Given the description of an element on the screen output the (x, y) to click on. 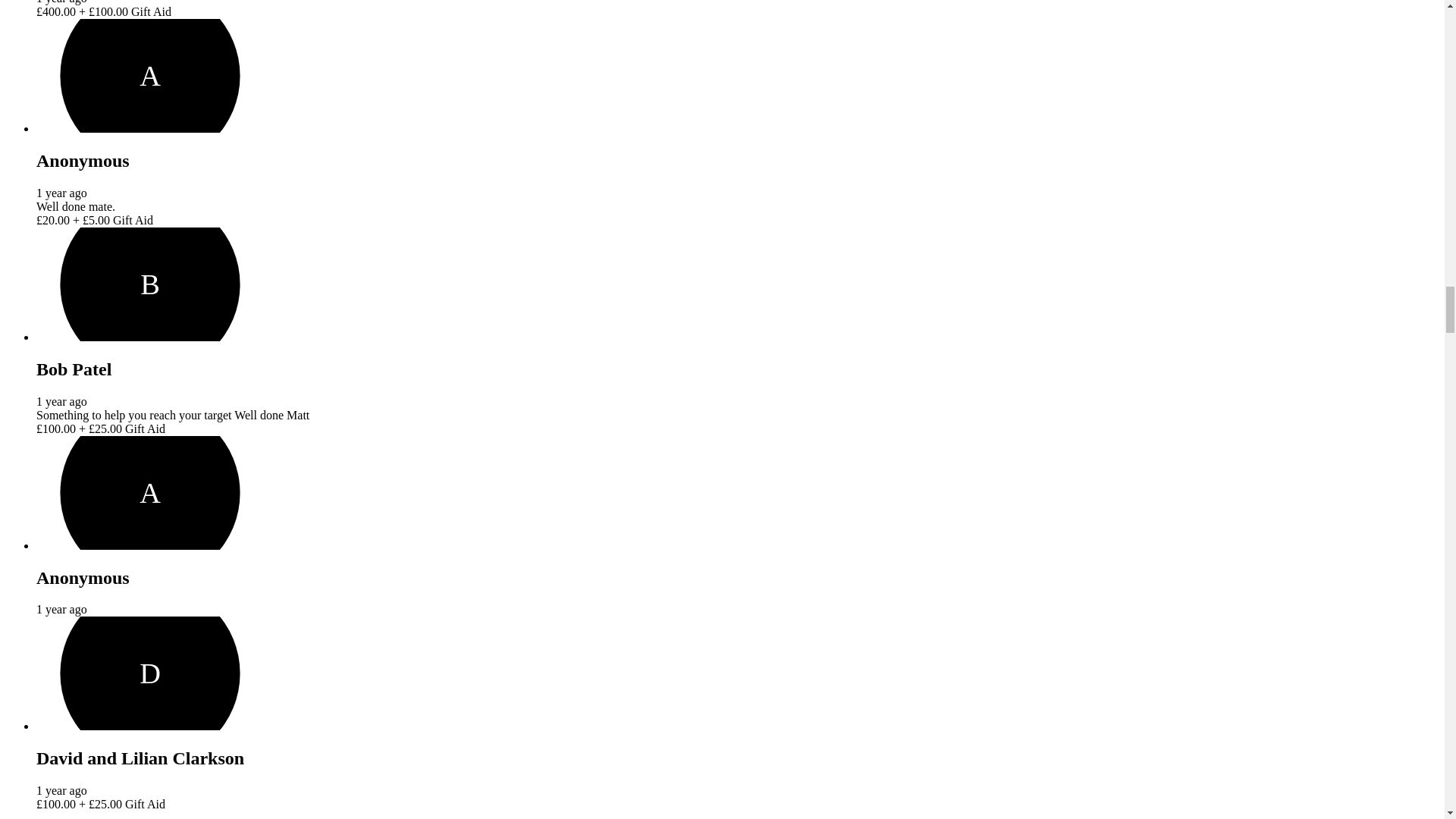
A (149, 75)
A (149, 492)
D (149, 673)
B (149, 284)
